Given the description of an element on the screen output the (x, y) to click on. 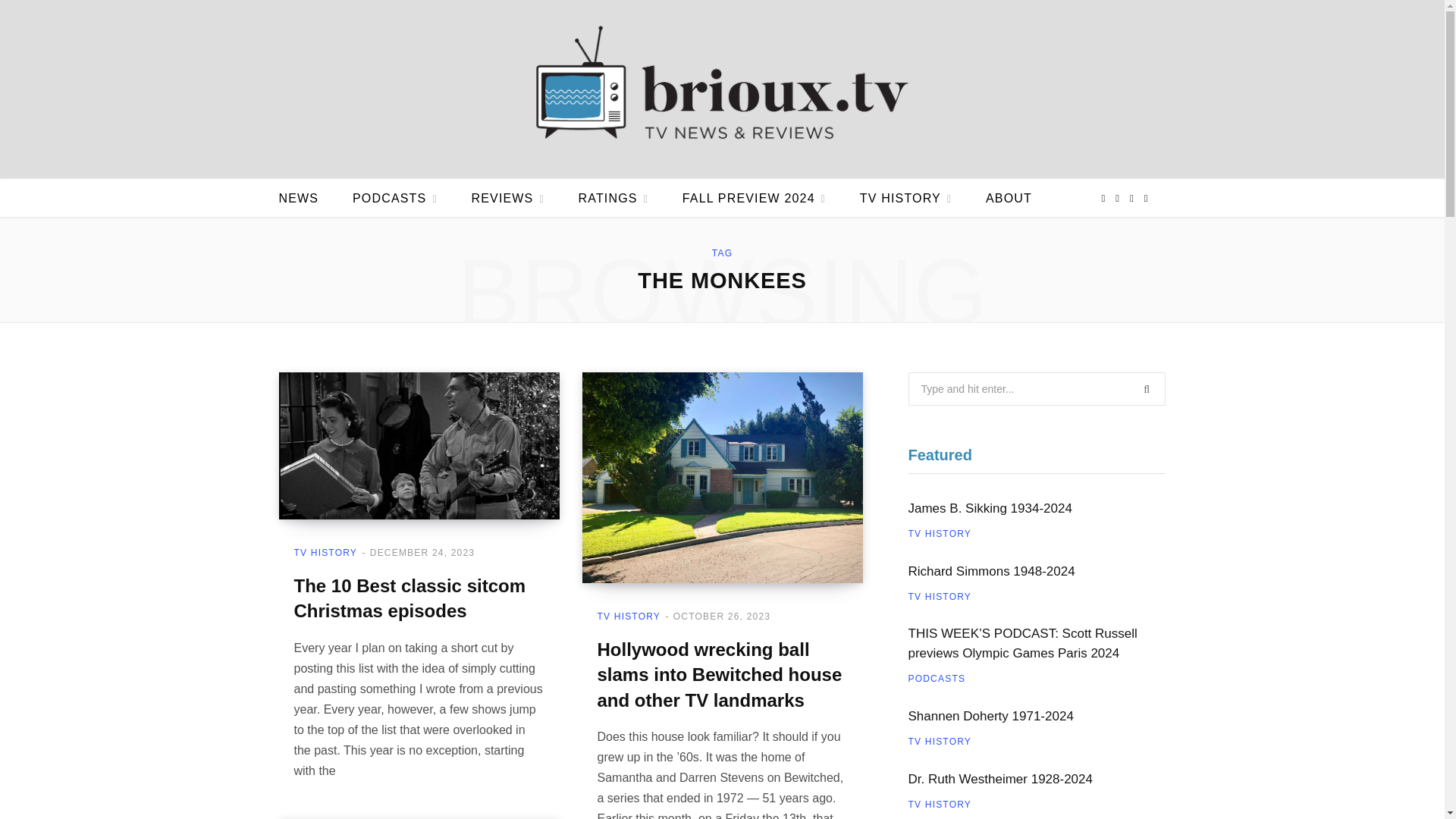
NEWS (298, 198)
PODCASTS (394, 198)
